Given the description of an element on the screen output the (x, y) to click on. 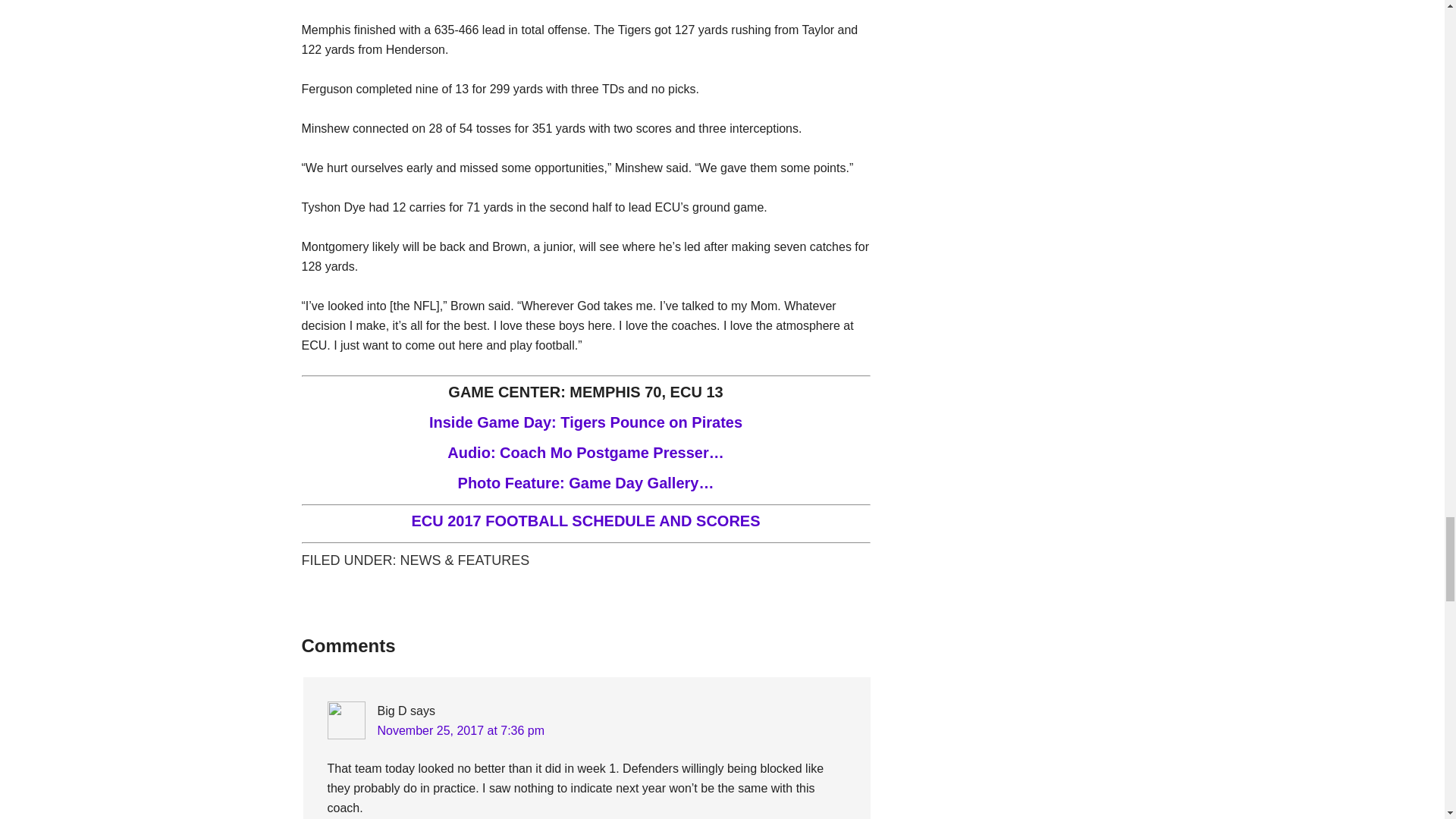
Inside Game Day: Tigers Pounce on Pirates (585, 422)
November 25, 2017 at 7:36 pm (460, 730)
ECU 2017 FOOTBALL SCHEDULE AND SCORES (585, 520)
